Given the description of an element on the screen output the (x, y) to click on. 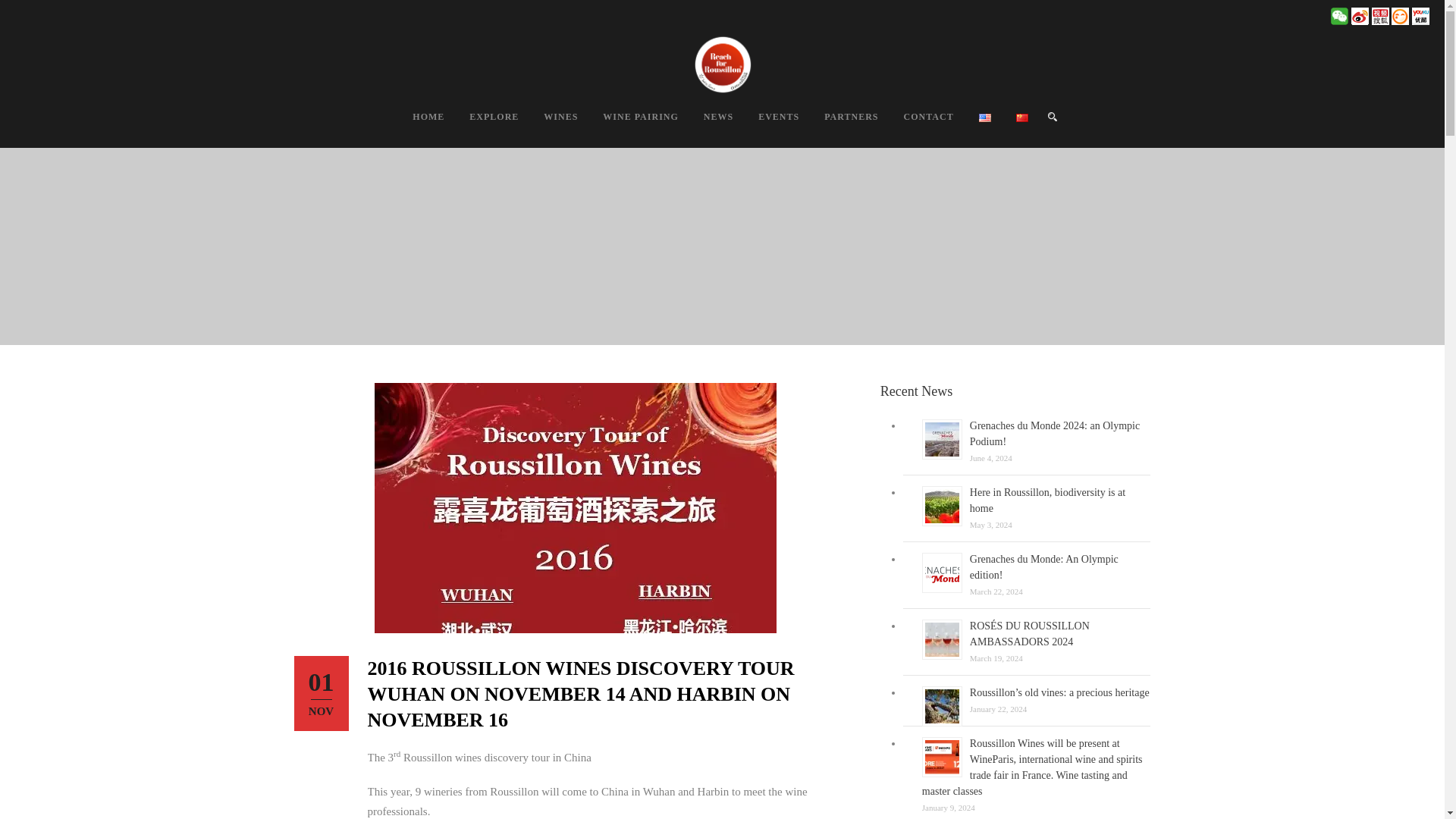
WINE PAIRING (628, 126)
WINES (548, 126)
HOME (415, 126)
EXPLORE (481, 126)
